Given the description of an element on the screen output the (x, y) to click on. 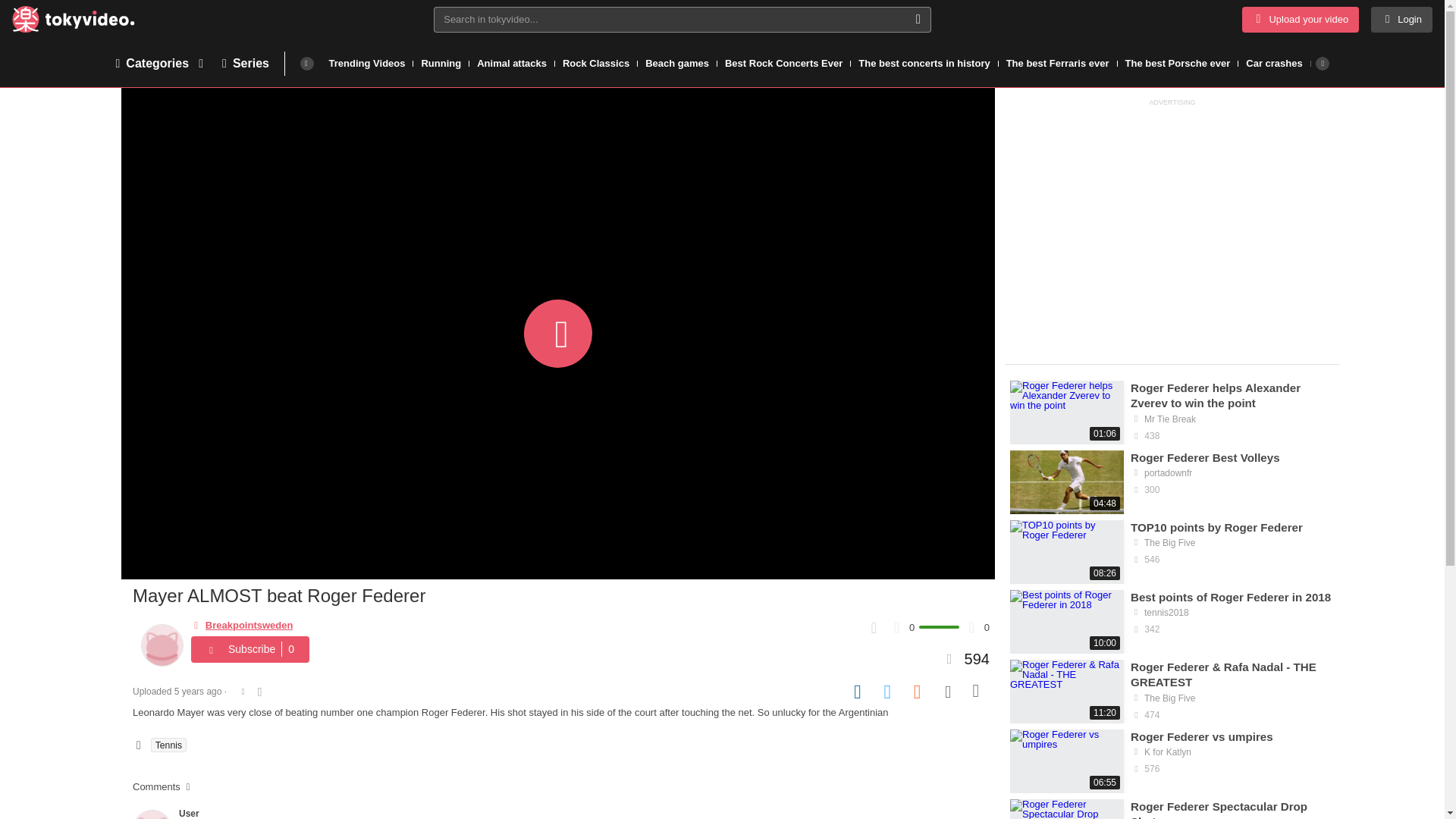
Login (1401, 19)
Upload your video (1299, 19)
Share on Reddit (918, 691)
Categories (160, 62)
